Given the description of an element on the screen output the (x, y) to click on. 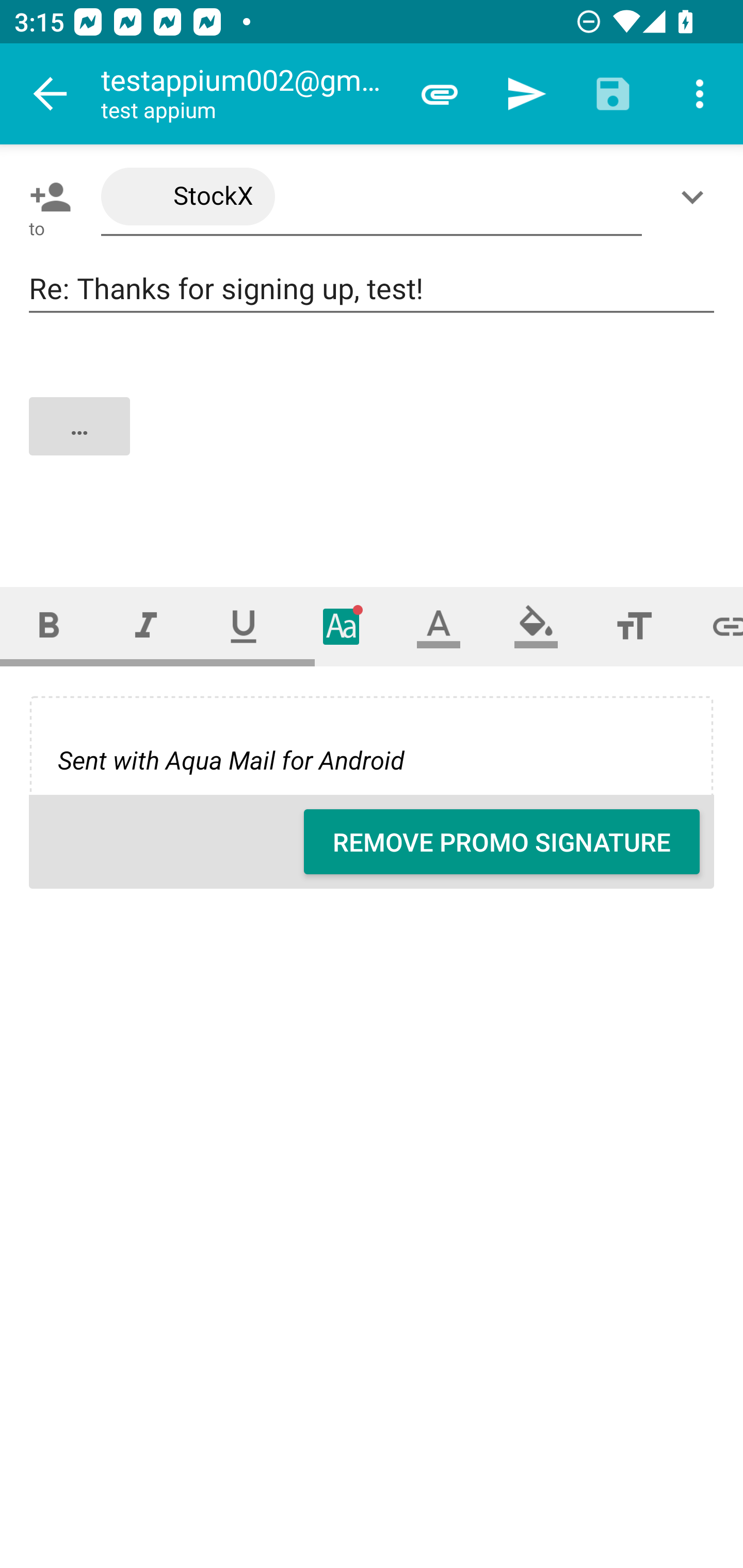
Navigate up (50, 93)
testappium002@gmail.com test appium (248, 93)
Attach (439, 93)
Send (525, 93)
Save (612, 93)
More options (699, 93)
StockX <noreply@stockx.com>,  (371, 197)
Pick contact: To (46, 196)
Show/Add CC/BCC (696, 196)
Re: Thanks for signing up, test! (371, 288)

…
 (372, 442)
Bold (48, 626)
Italic (145, 626)
Underline (243, 626)
Typeface (font) (341, 626)
Text color (438, 626)
Fill color (536, 626)
Font size (633, 626)
REMOVE PROMO SIGNATURE (501, 841)
